Given the description of an element on the screen output the (x, y) to click on. 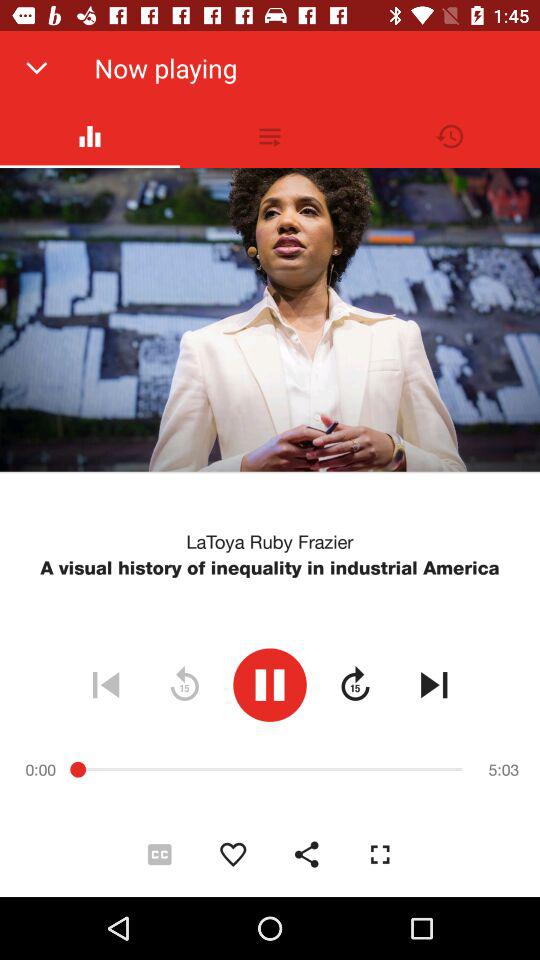
click icon to the left of the now playing icon (36, 68)
